Given the description of an element on the screen output the (x, y) to click on. 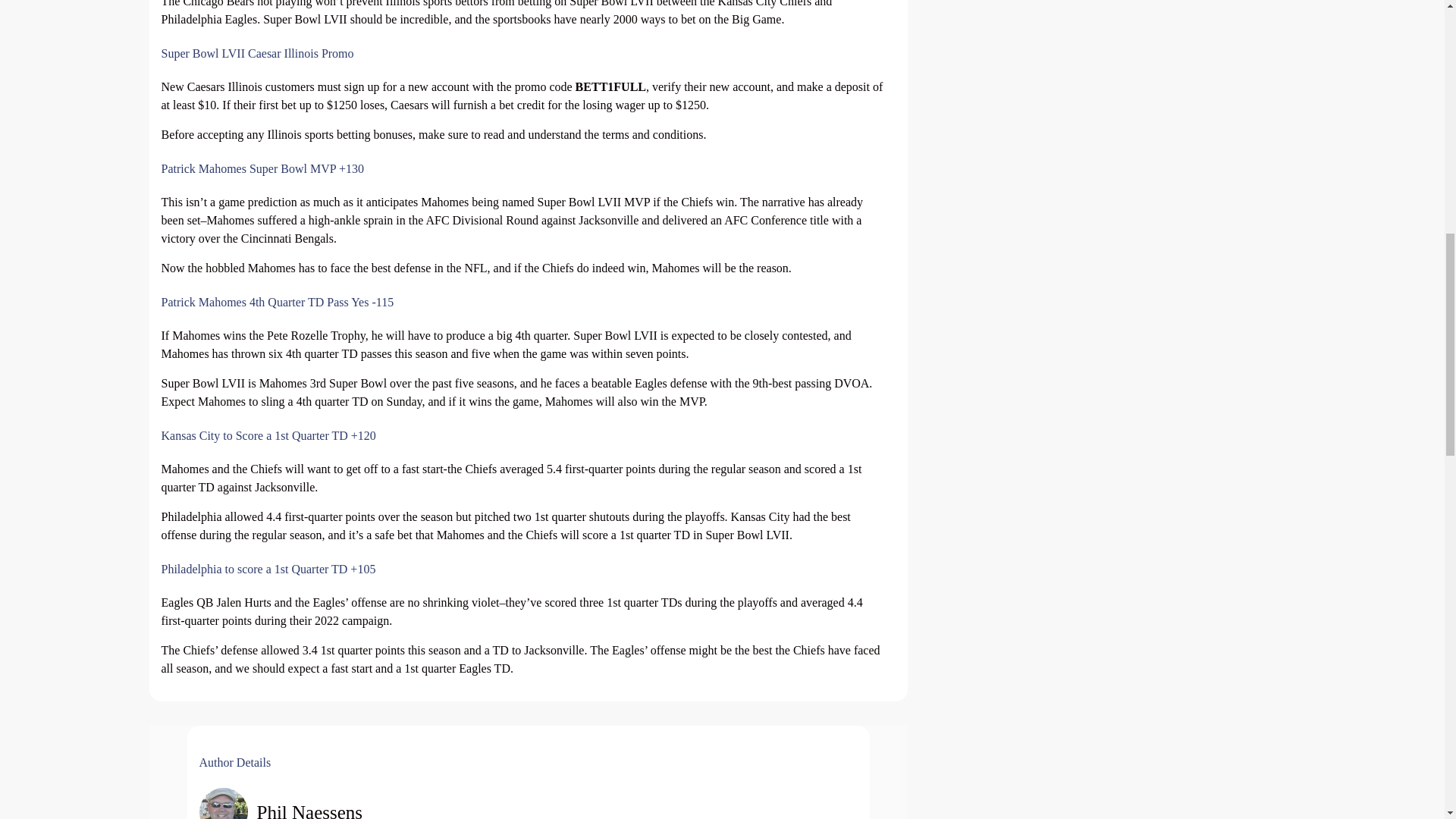
Illinois sports betting bonuses (339, 133)
Phil Naessens (304, 803)
Caesars Illinois (224, 86)
